Given the description of an element on the screen output the (x, y) to click on. 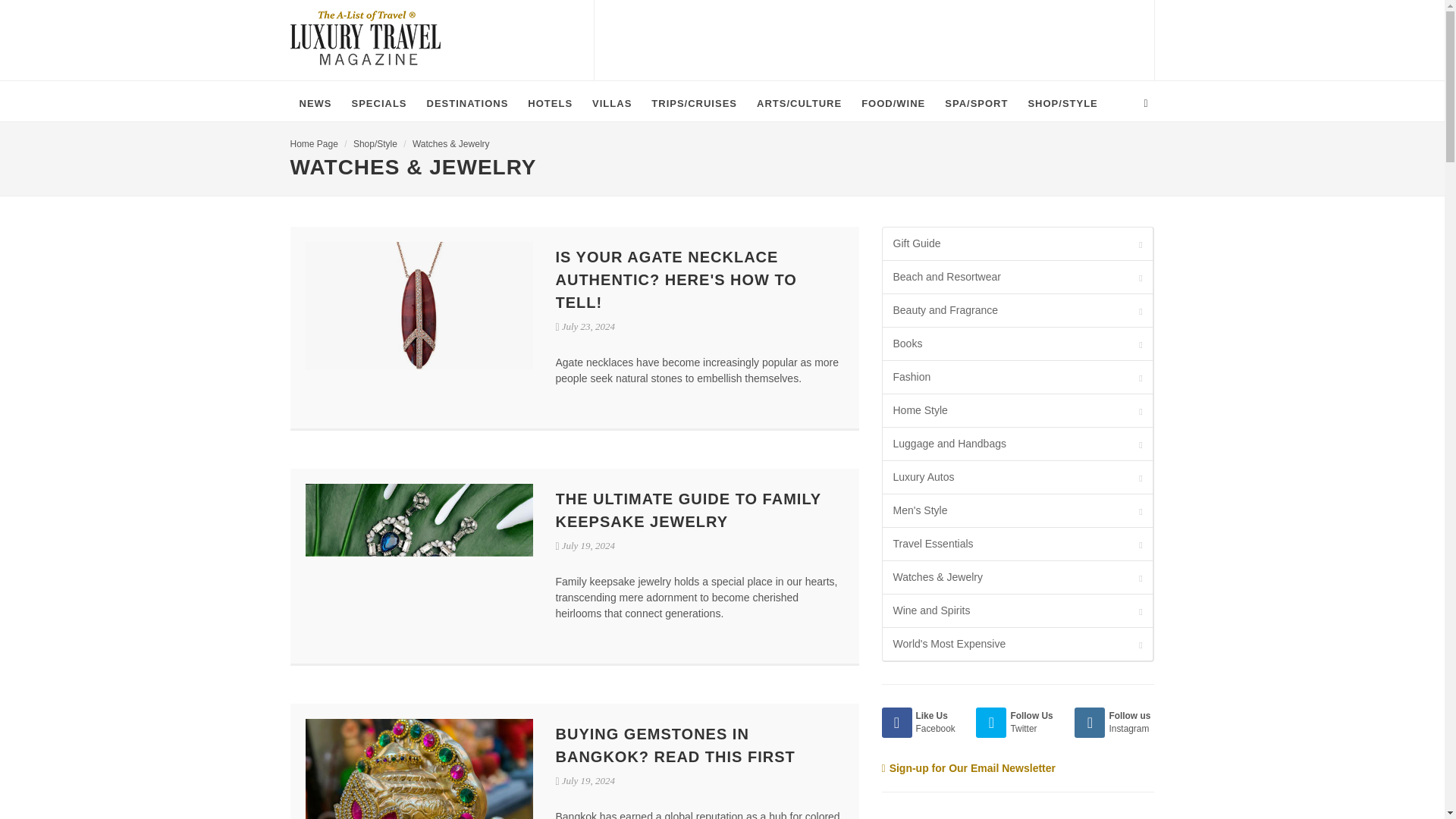
HOTELS (549, 103)
SPECIALS (379, 103)
VILLAS (611, 103)
NEWS (314, 103)
DESTINATIONS (467, 103)
